Given the description of an element on the screen output the (x, y) to click on. 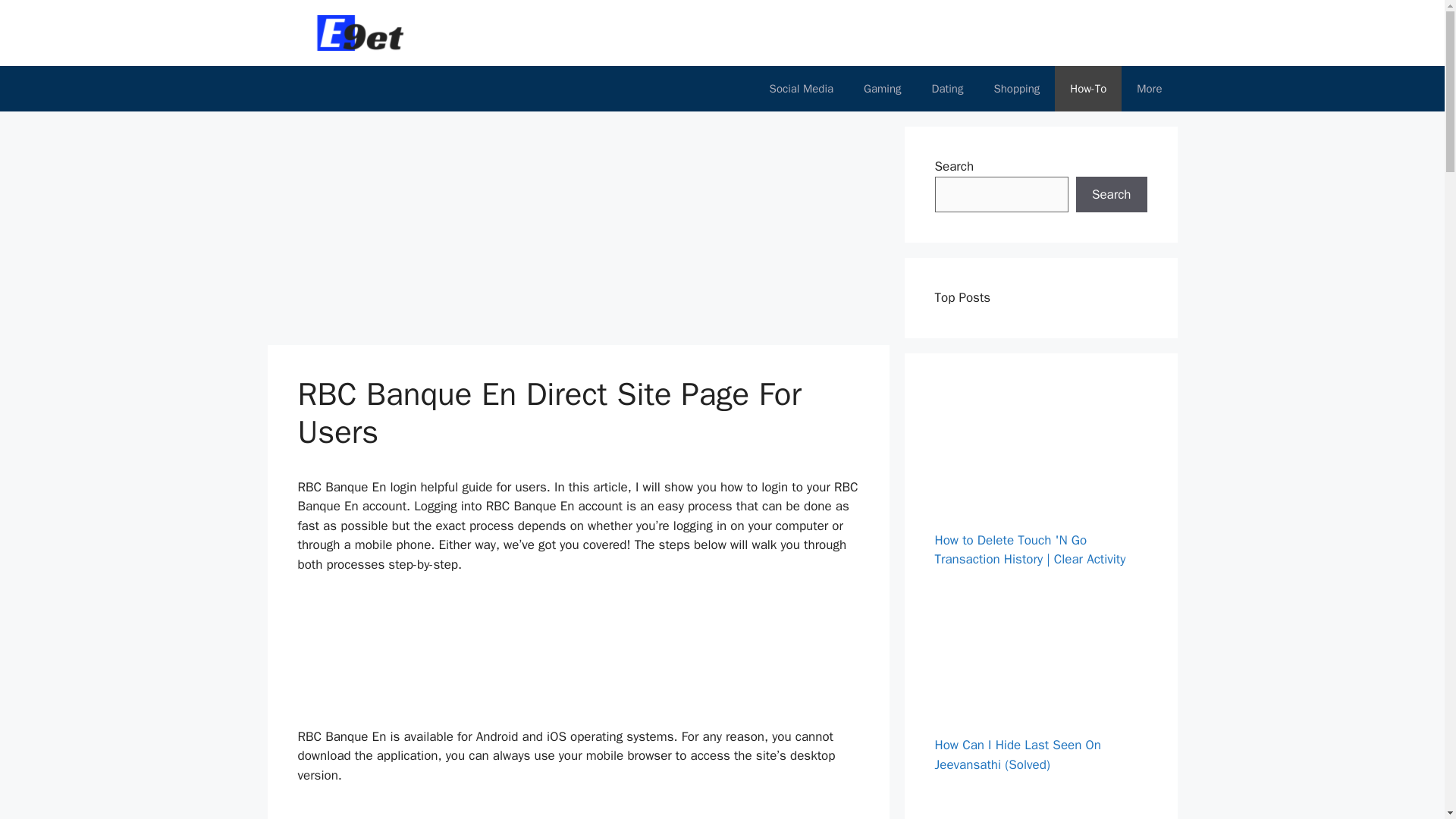
Shopping (1016, 88)
More (1148, 88)
Dating (947, 88)
Gaming (881, 88)
How-To (1087, 88)
Search (1111, 194)
Social Media (801, 88)
